Given the description of an element on the screen output the (x, y) to click on. 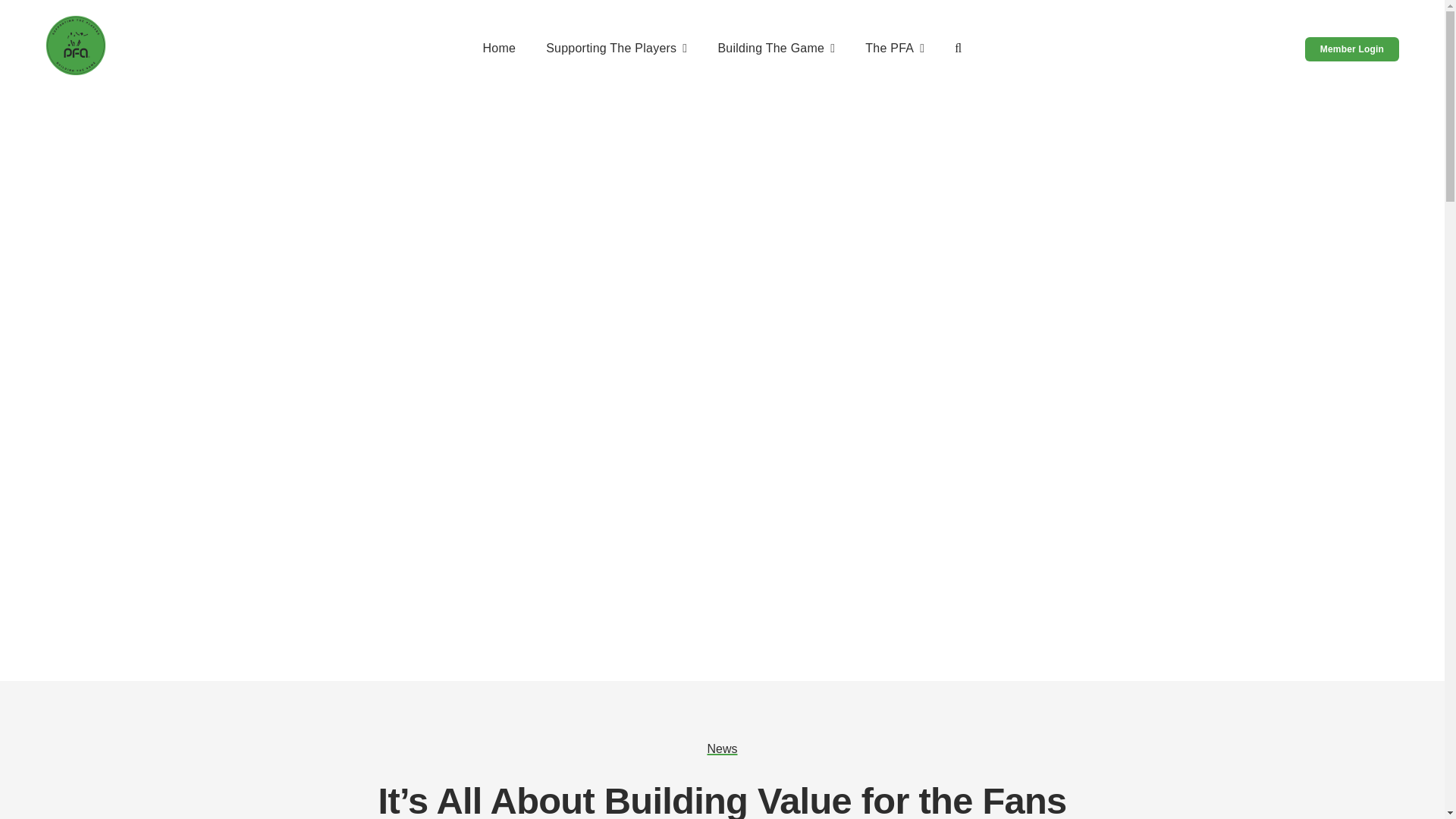
Member Login (1351, 48)
Home (498, 49)
Building The Game (775, 49)
News (721, 748)
Supporting The Players (616, 49)
The PFA (894, 49)
News (721, 748)
Search (957, 49)
